Given the description of an element on the screen output the (x, y) to click on. 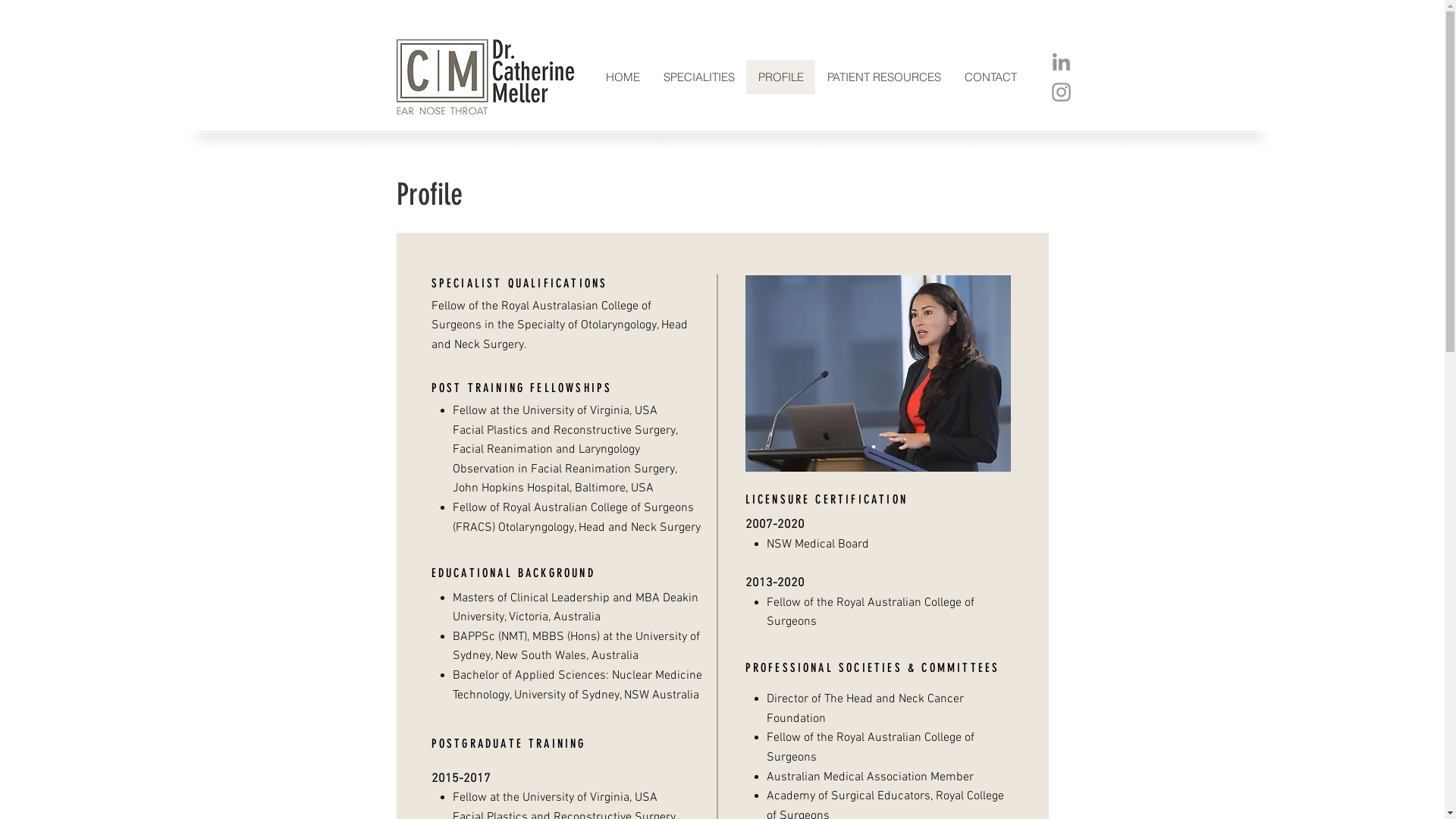
Profile Element type: text (428, 194)
PROFILE Element type: text (780, 76)
PATIENT RESOURCES Element type: text (883, 76)
HOME Element type: text (622, 76)
CONTACT Element type: text (990, 76)
SPECIALITIES Element type: text (698, 76)
